Given the description of an element on the screen output the (x, y) to click on. 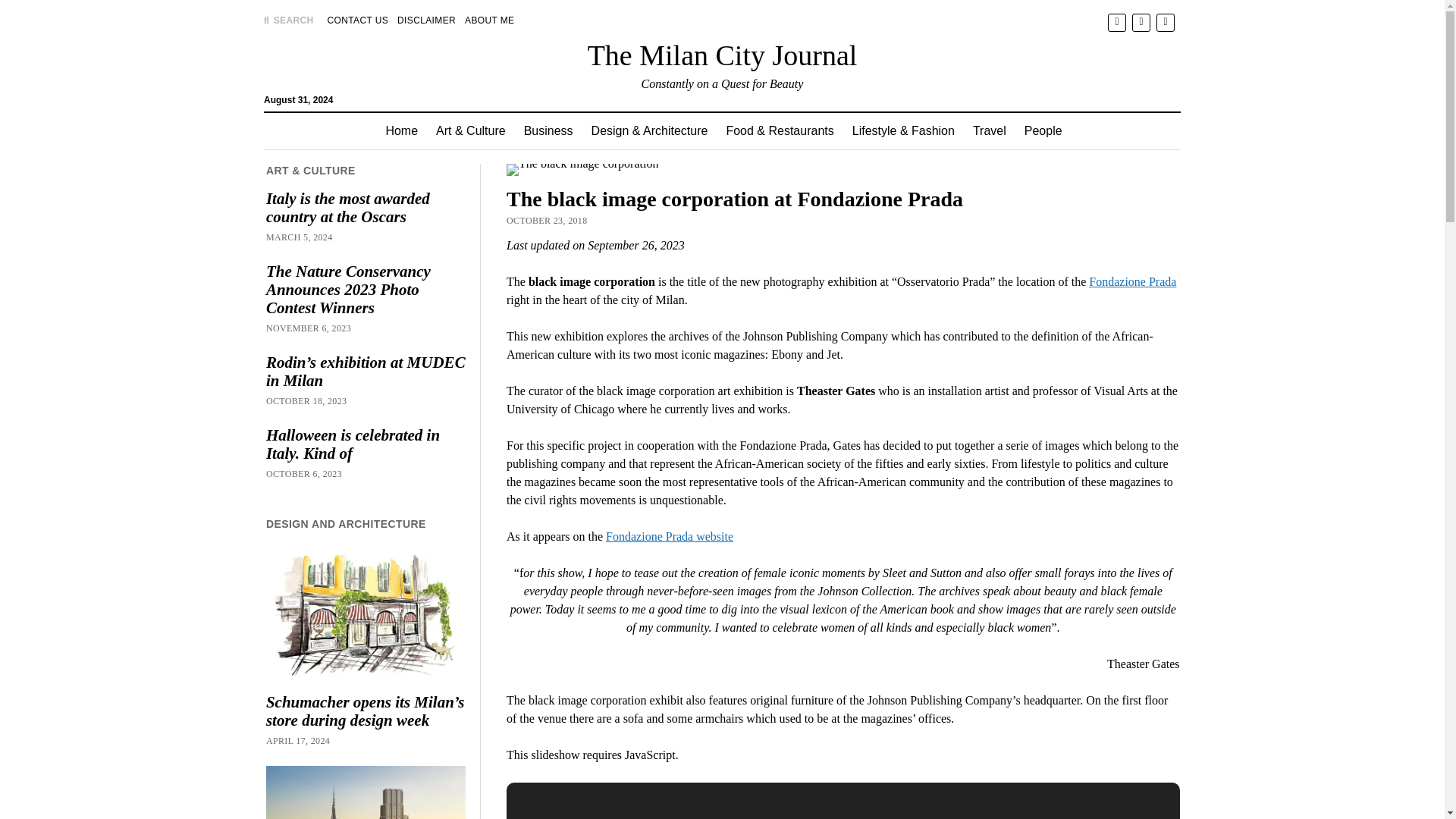
Halloween is celebrated in Italy. Kind of (365, 443)
Italy is the most awarded country at the Oscars (365, 207)
The Milan City Journal (722, 55)
Search (945, 129)
People (1042, 131)
SEARCH (288, 20)
The Nature Conservancy Announces 2023 Photo Contest Winners (365, 289)
Travel (988, 131)
Business (548, 131)
DISCLAIMER (426, 20)
